Given the description of an element on the screen output the (x, y) to click on. 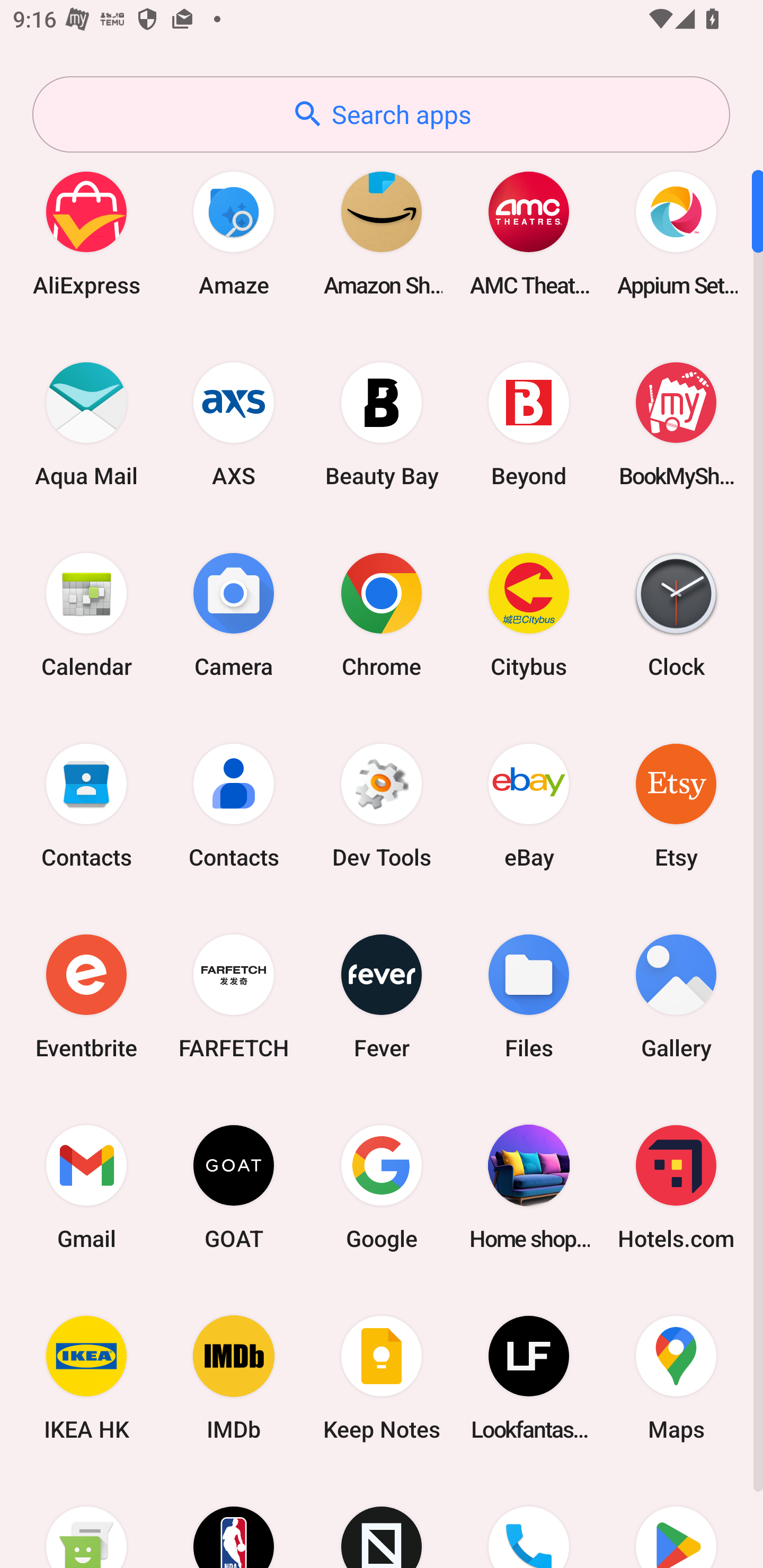
  Search apps (381, 114)
AliExpress (86, 233)
Amaze (233, 233)
Amazon Shopping (381, 233)
AMC Theatres (528, 233)
Appium Settings (676, 233)
Aqua Mail (86, 424)
AXS (233, 424)
Beauty Bay (381, 424)
Beyond (528, 424)
BookMyShow (676, 424)
Calendar (86, 614)
Camera (233, 614)
Chrome (381, 614)
Citybus (528, 614)
Clock (676, 614)
Contacts (86, 805)
Contacts (233, 805)
Dev Tools (381, 805)
eBay (528, 805)
Etsy (676, 805)
Eventbrite (86, 996)
FARFETCH (233, 996)
Fever (381, 996)
Files (528, 996)
Gallery (676, 996)
Gmail (86, 1186)
GOAT (233, 1186)
Google (381, 1186)
Home shopping (528, 1186)
Hotels.com (676, 1186)
IKEA HK (86, 1377)
IMDb (233, 1377)
Keep Notes (381, 1377)
Lookfantastic (528, 1377)
Maps (676, 1377)
Messaging (86, 1520)
NBA (233, 1520)
Novelship (381, 1520)
Phone (528, 1520)
Play Store (676, 1520)
